Given the description of an element on the screen output the (x, y) to click on. 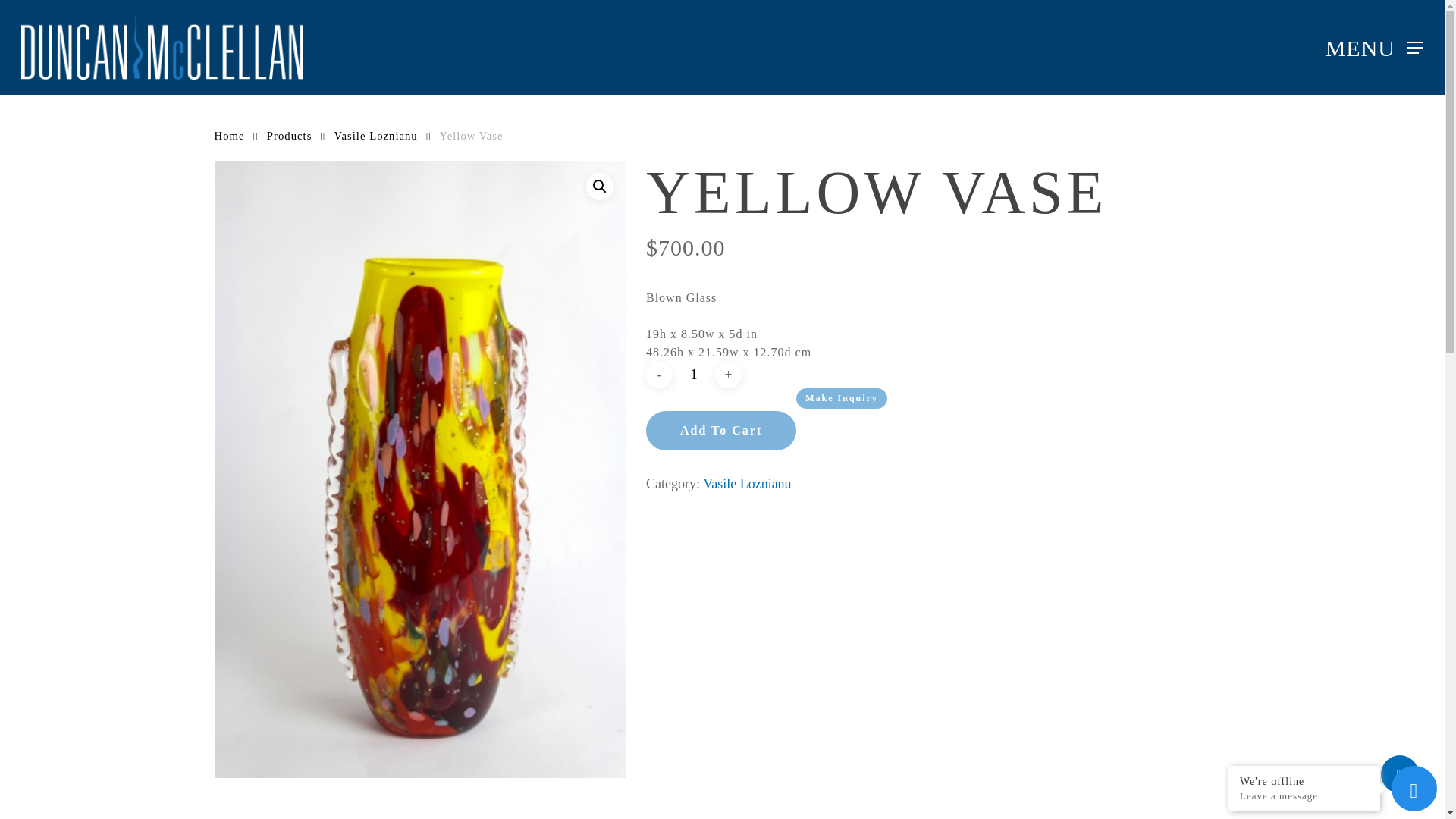
Leave a message (1304, 796)
MENU (1373, 47)
Products (289, 135)
- (659, 374)
Home (229, 135)
1 (694, 374)
We're offline (1304, 780)
Vasile Loznianu (746, 483)
Add To Cart (721, 430)
Vasile Loznianu (374, 135)
Make Inquiry (841, 398)
